Given the description of an element on the screen output the (x, y) to click on. 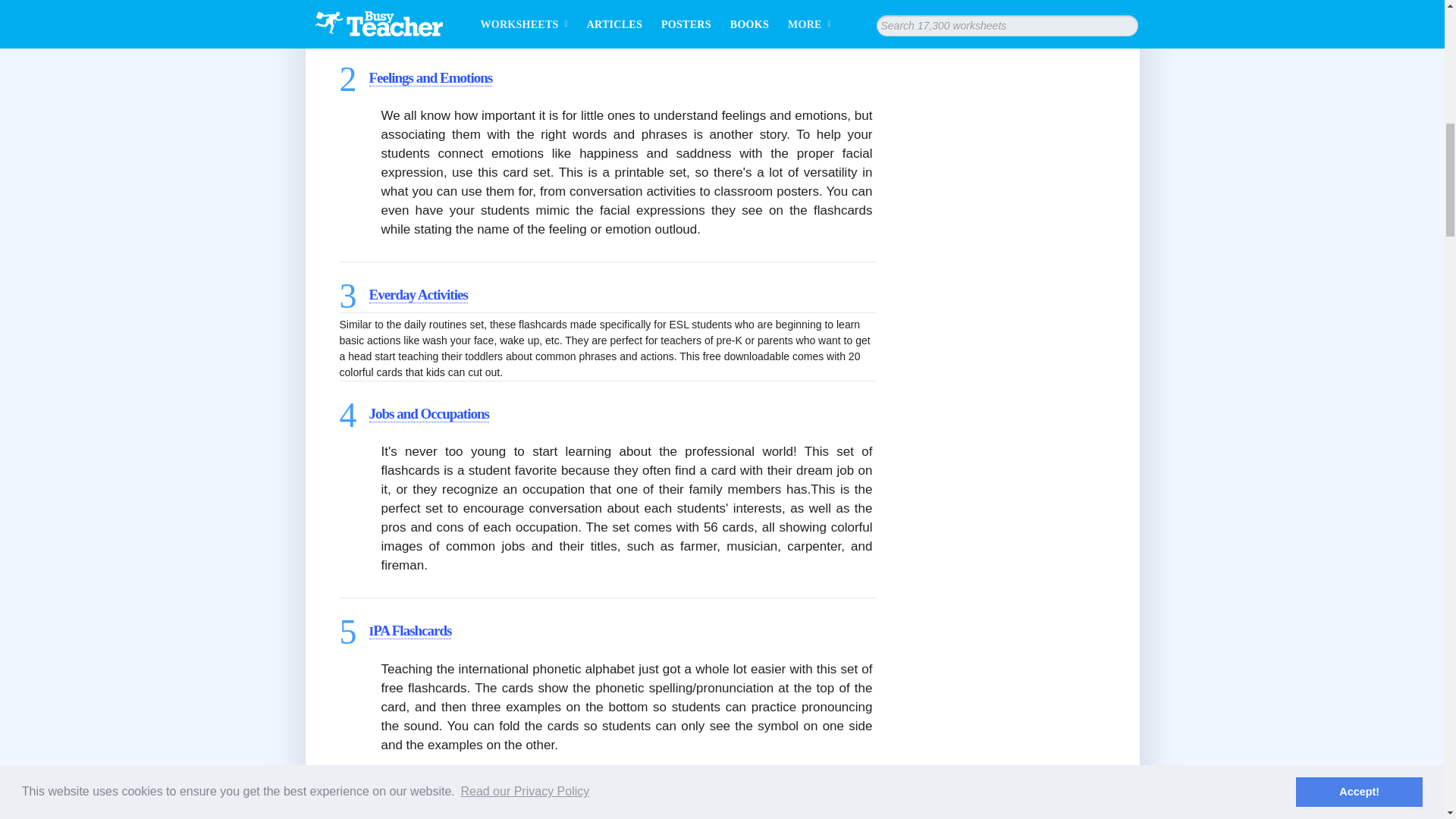
Clothing Flashcards (422, 810)
Feelings and Emotions (430, 77)
Jobs and Occupations (427, 413)
IPA Flashcards (409, 630)
Everday Activities (417, 294)
